Given the description of an element on the screen output the (x, y) to click on. 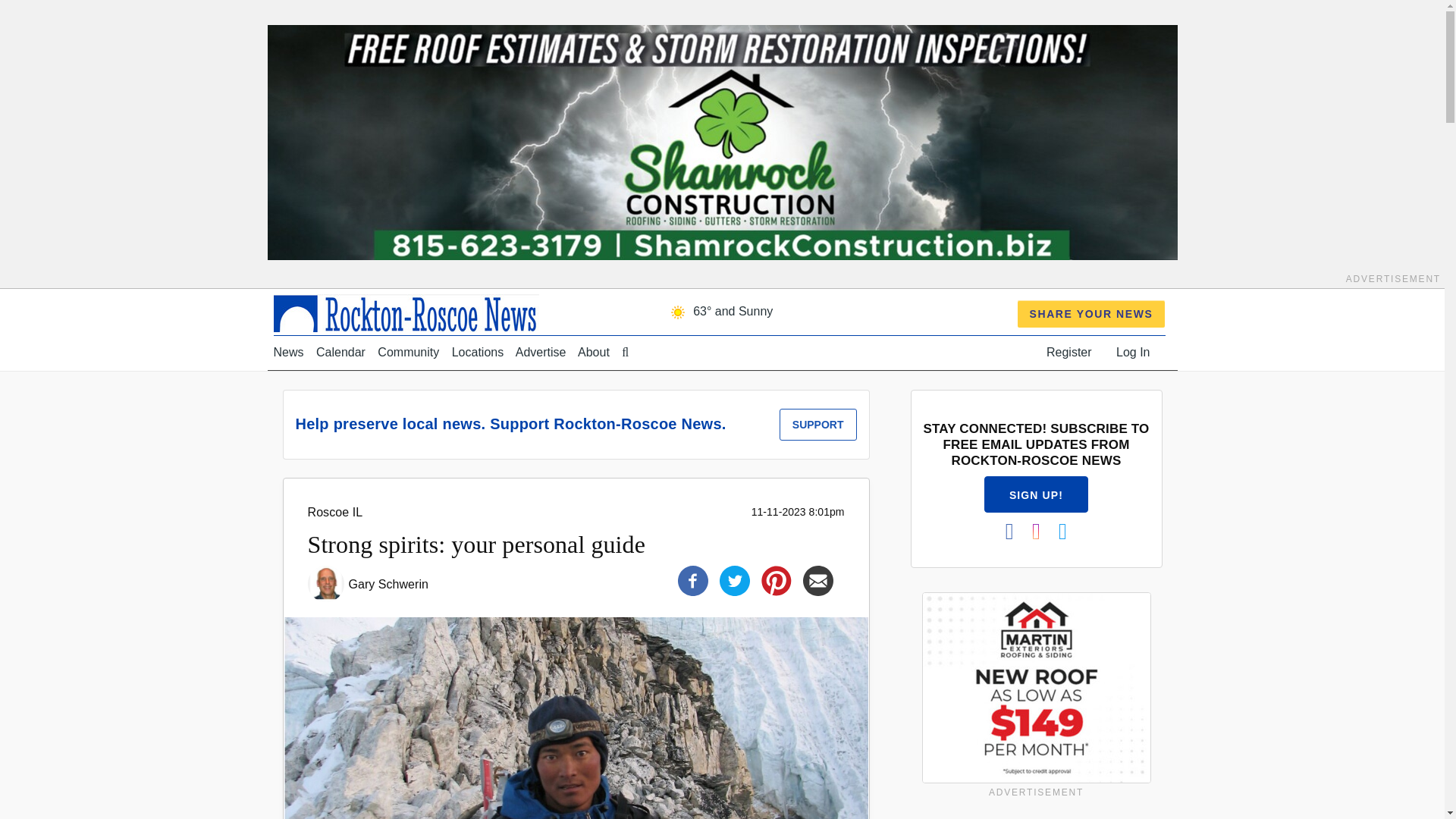
SHARE YOUR NEWS (1091, 313)
Register (1069, 351)
About (594, 351)
SUPPORT (817, 424)
News (287, 351)
Email (817, 580)
Advertise (540, 351)
Rockton-Roscoe News (405, 313)
Facebook (692, 580)
